Given the description of an element on the screen output the (x, y) to click on. 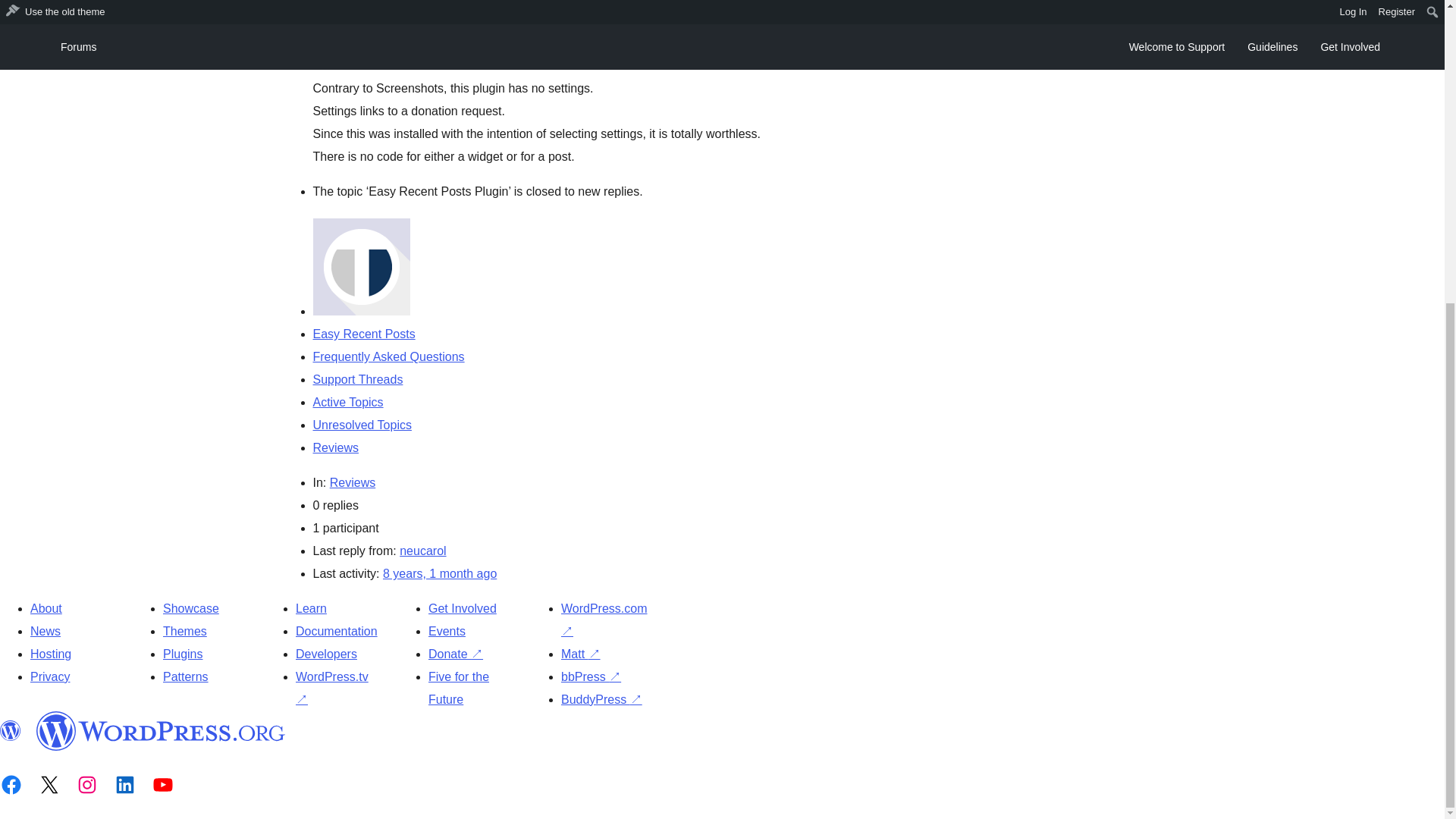
WordPress.org (10, 731)
July 14, 2016 at 1:26 pm (369, 52)
WordPress.org (160, 731)
View neucarol's profile (421, 550)
July 14, 2016 at 1:26 pm (439, 573)
